Given the description of an element on the screen output the (x, y) to click on. 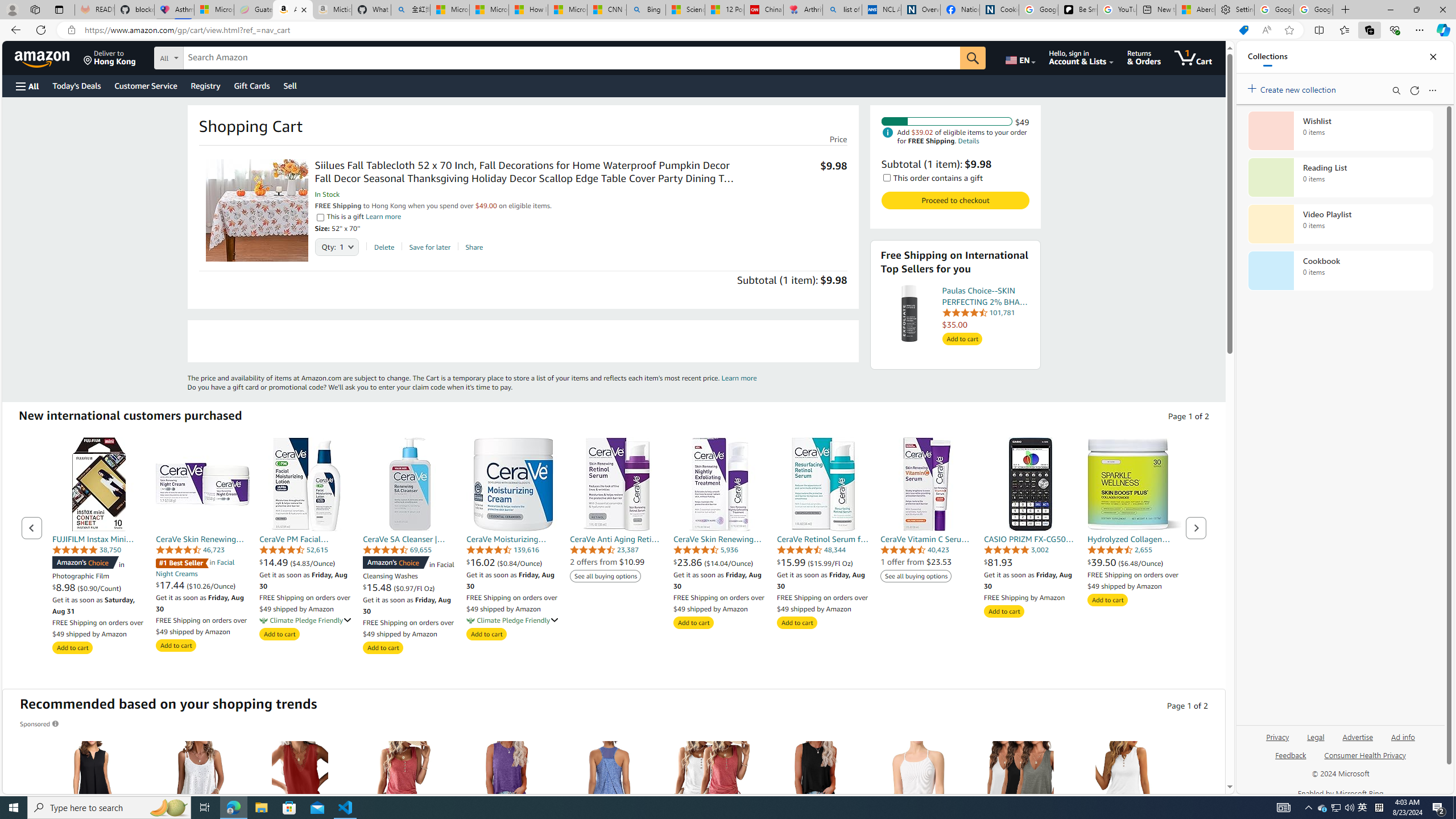
Returns & Orders (1144, 57)
Deliver to Hong Kong (109, 57)
Previous page (31, 527)
Consumer Health Privacy (1364, 759)
Proceed to checkout Check out Amazon Cart  (954, 200)
Skip to main content (48, 56)
